Given the description of an element on the screen output the (x, y) to click on. 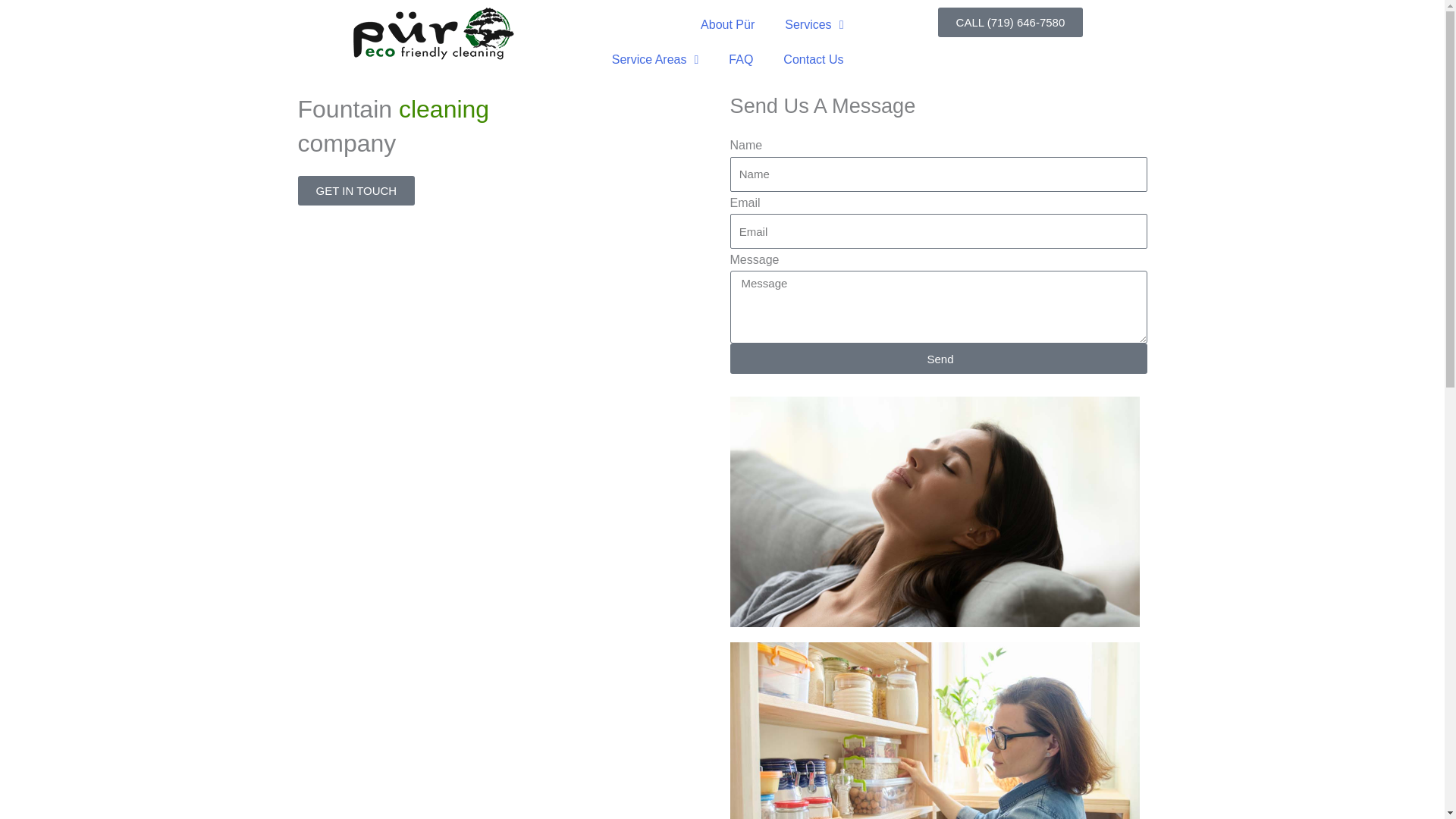
Service Areas (655, 59)
Services (814, 24)
